Given the description of an element on the screen output the (x, y) to click on. 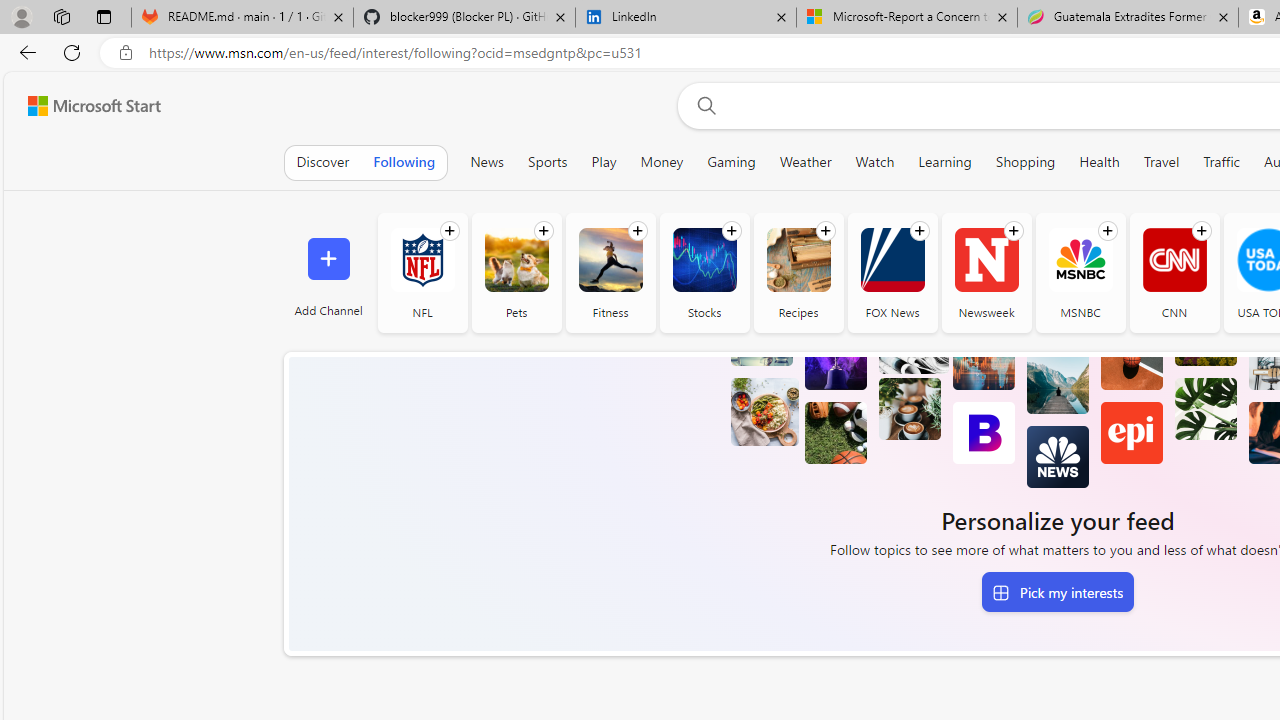
Newsweek (985, 260)
Stocks (704, 272)
Shopping (1025, 161)
MSNBC (1080, 272)
Pets (516, 272)
Sports (547, 162)
Add Channel (327, 272)
LinkedIn (686, 17)
Shopping (1025, 162)
Fitness (610, 260)
